Given the description of an element on the screen output the (x, y) to click on. 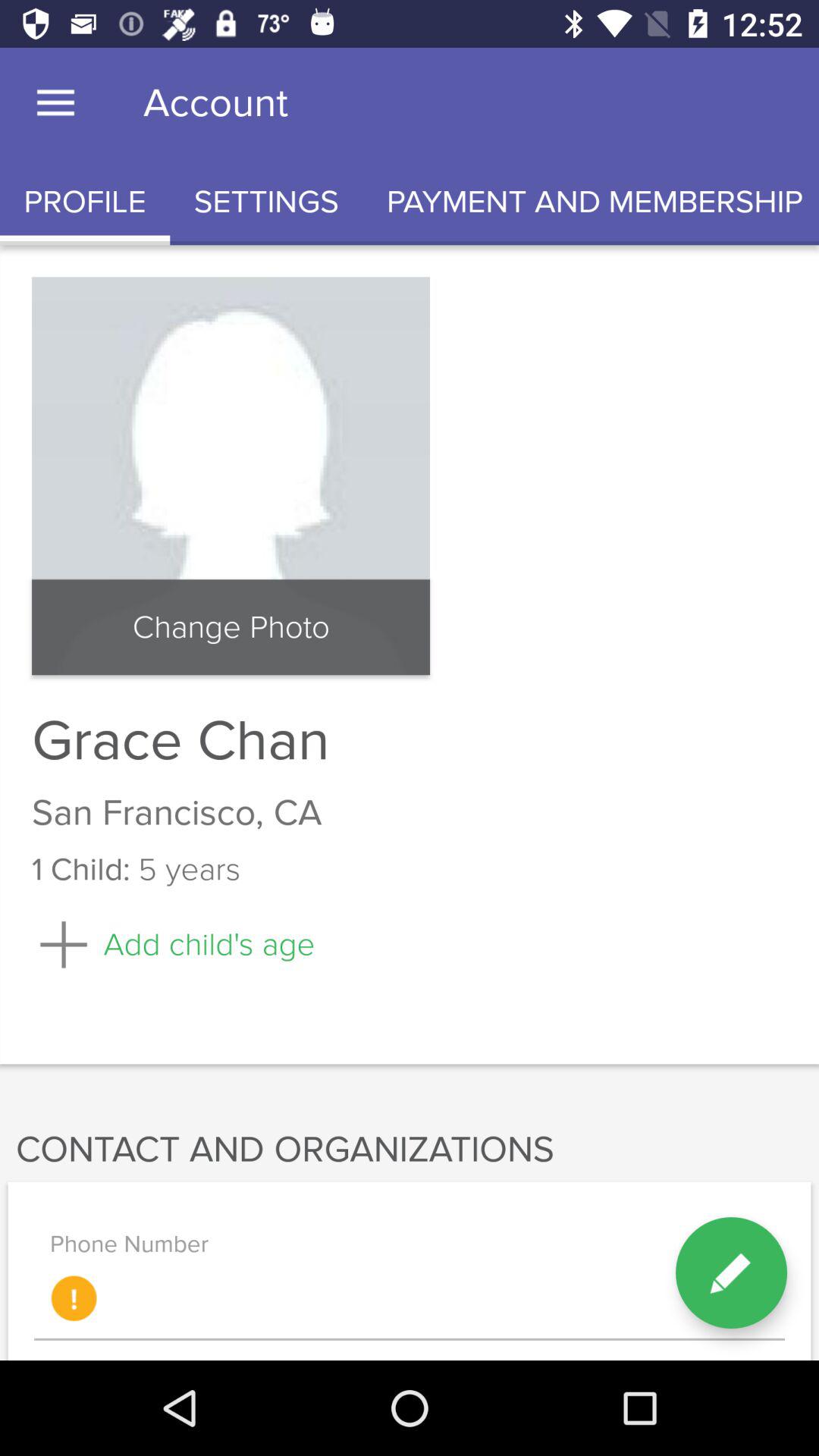
open change photo (230, 627)
